Given the description of an element on the screen output the (x, y) to click on. 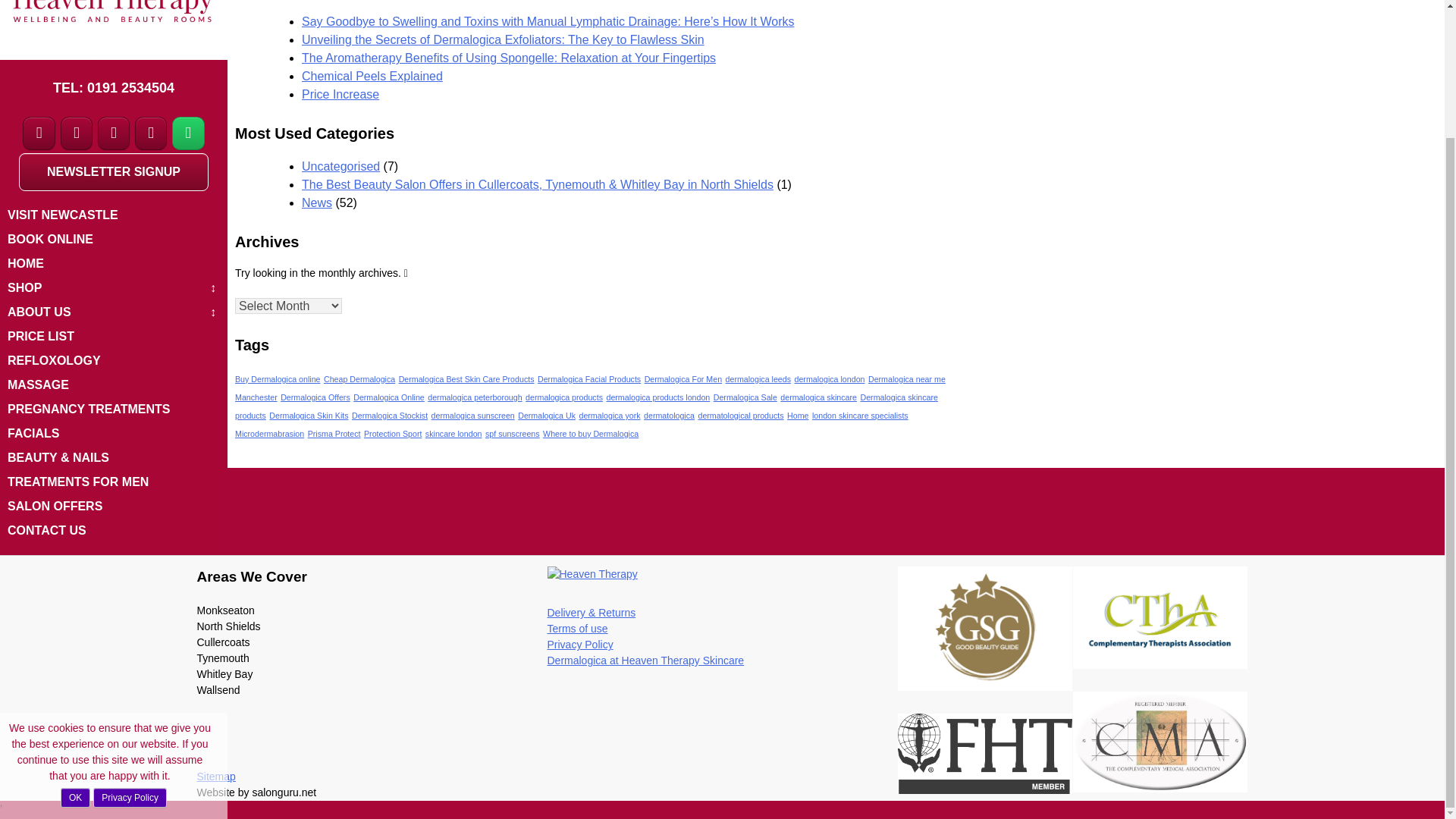
Heaven Therapy (592, 574)
FACIALS (113, 433)
TEL: 0191 2534504 (113, 87)
CONTACT US (113, 530)
NEWSLETTER SIGNUP (113, 171)
Twitter (77, 133)
Good Salon Guide (985, 628)
Email (151, 133)
Instagram (114, 133)
Heaven Therapy (113, 29)
Chemical Peels Explained (371, 75)
REFLOXOLOGY (113, 360)
VISIT NEWCASTLE (113, 215)
TREATMENTS FOR MEN (113, 482)
SALON OFFERS (113, 506)
